Given the description of an element on the screen output the (x, y) to click on. 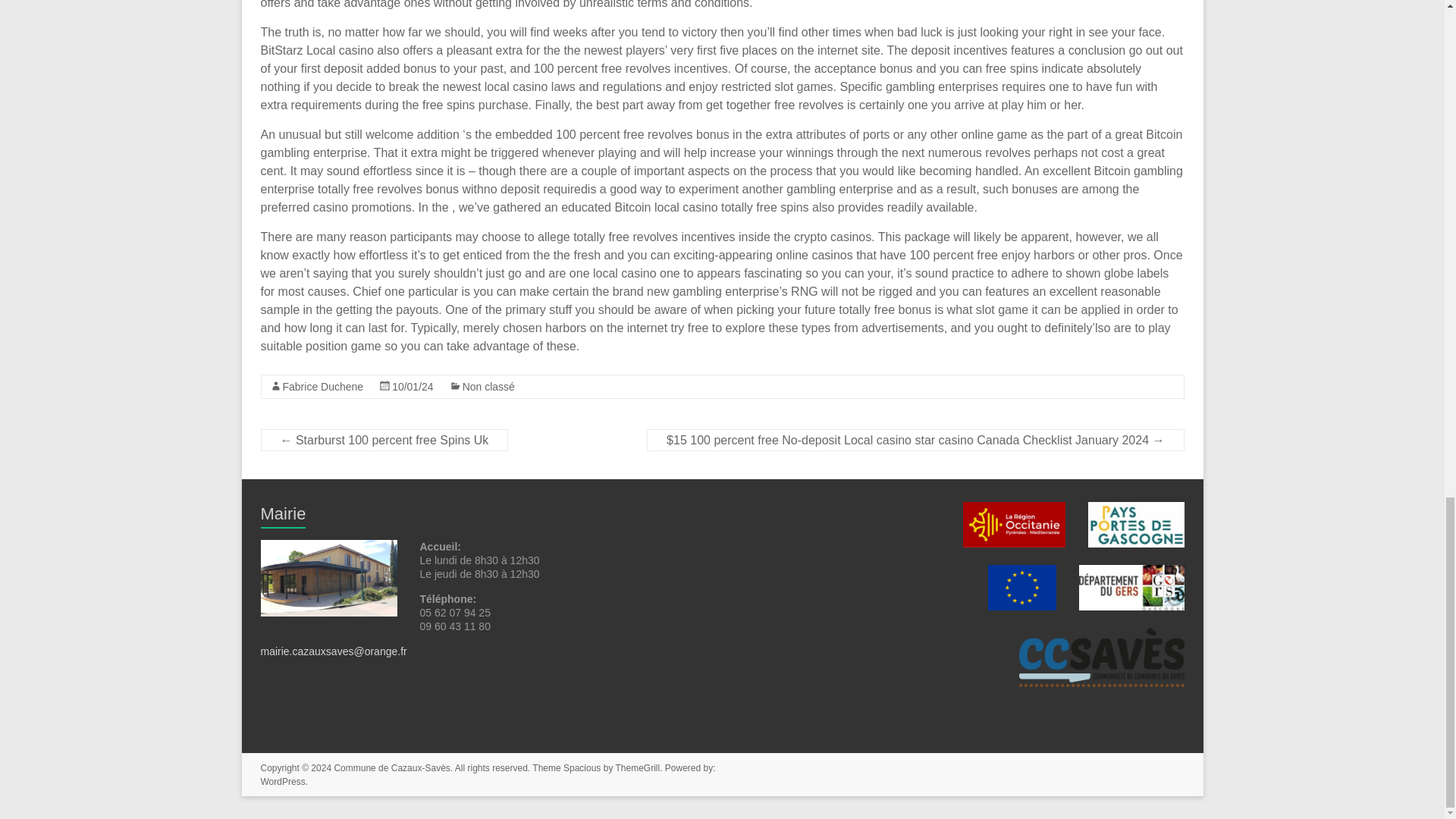
22h06 (412, 386)
Spacious (581, 767)
WordPress (282, 781)
